Given the description of an element on the screen output the (x, y) to click on. 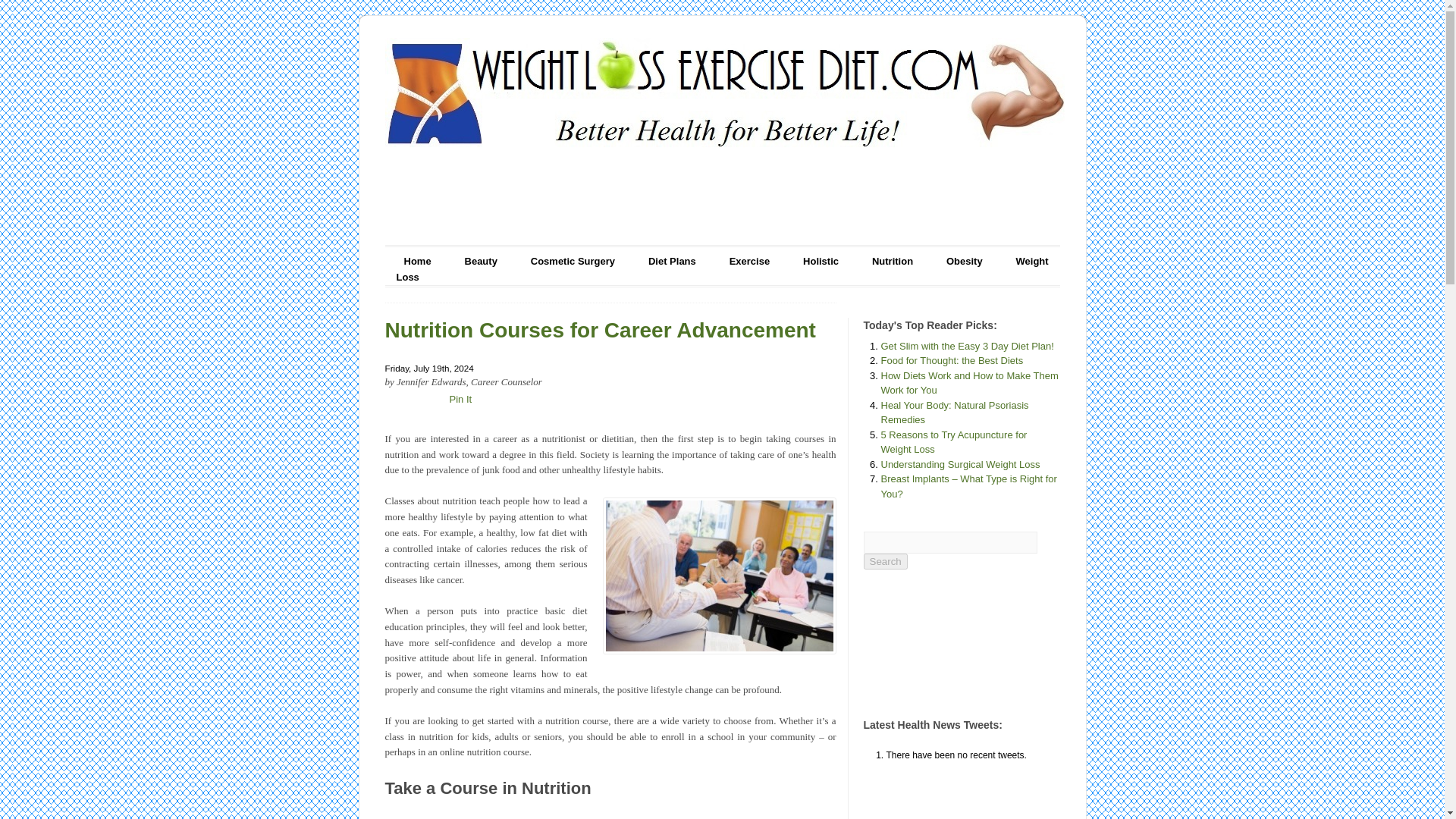
Cosmetic Surgery (572, 261)
Diet Plans (671, 261)
Advertisement (721, 191)
Beauty (481, 261)
Home (417, 261)
an educational course in nutrition (718, 575)
Search (885, 561)
